Given the description of an element on the screen output the (x, y) to click on. 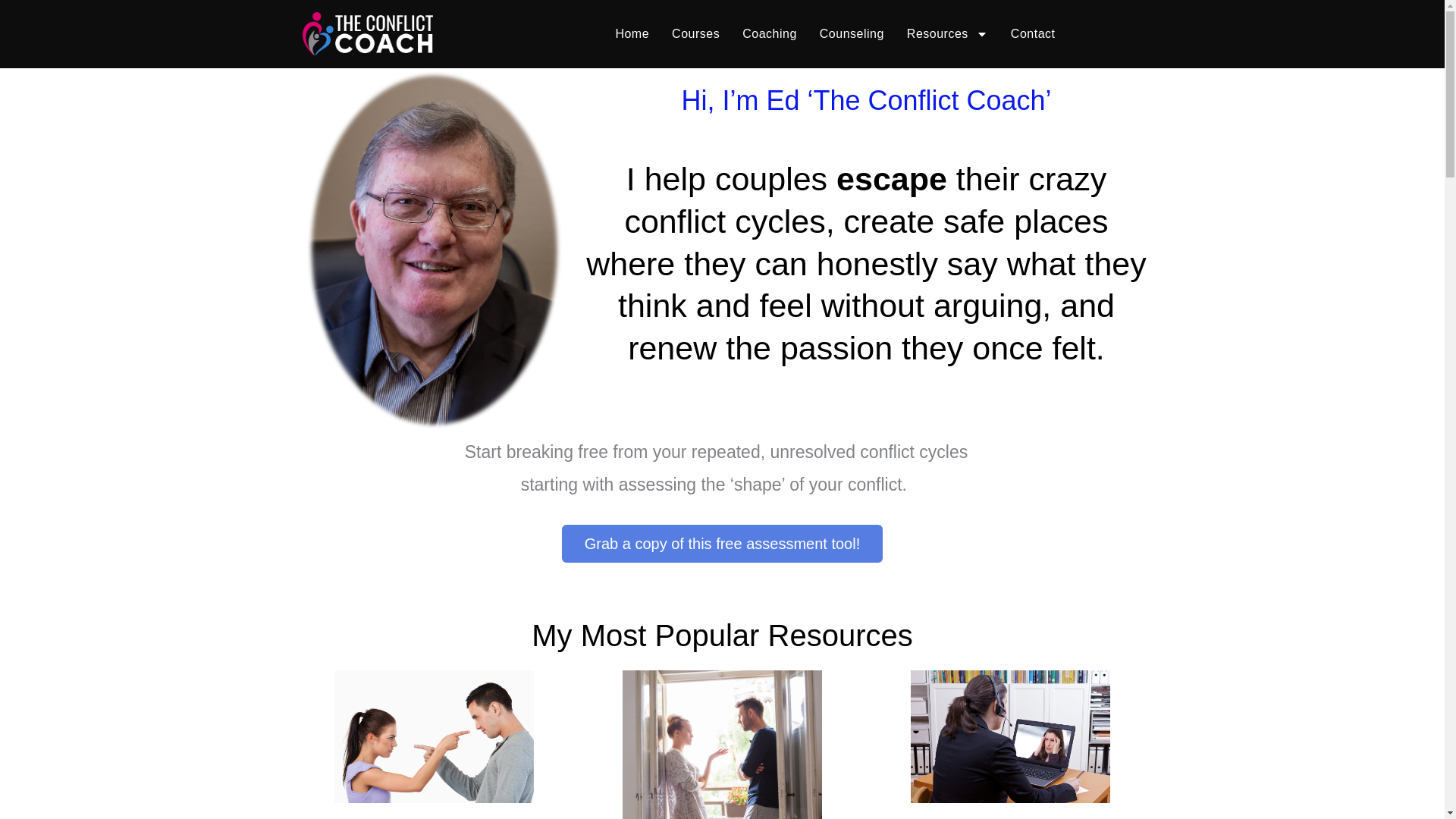
Contact (1032, 34)
Courses (695, 34)
Home (632, 34)
Resources (946, 34)
Coaching (769, 34)
Grab a copy of this free assessment tool! (722, 544)
Counseling (851, 34)
